Given the description of an element on the screen output the (x, y) to click on. 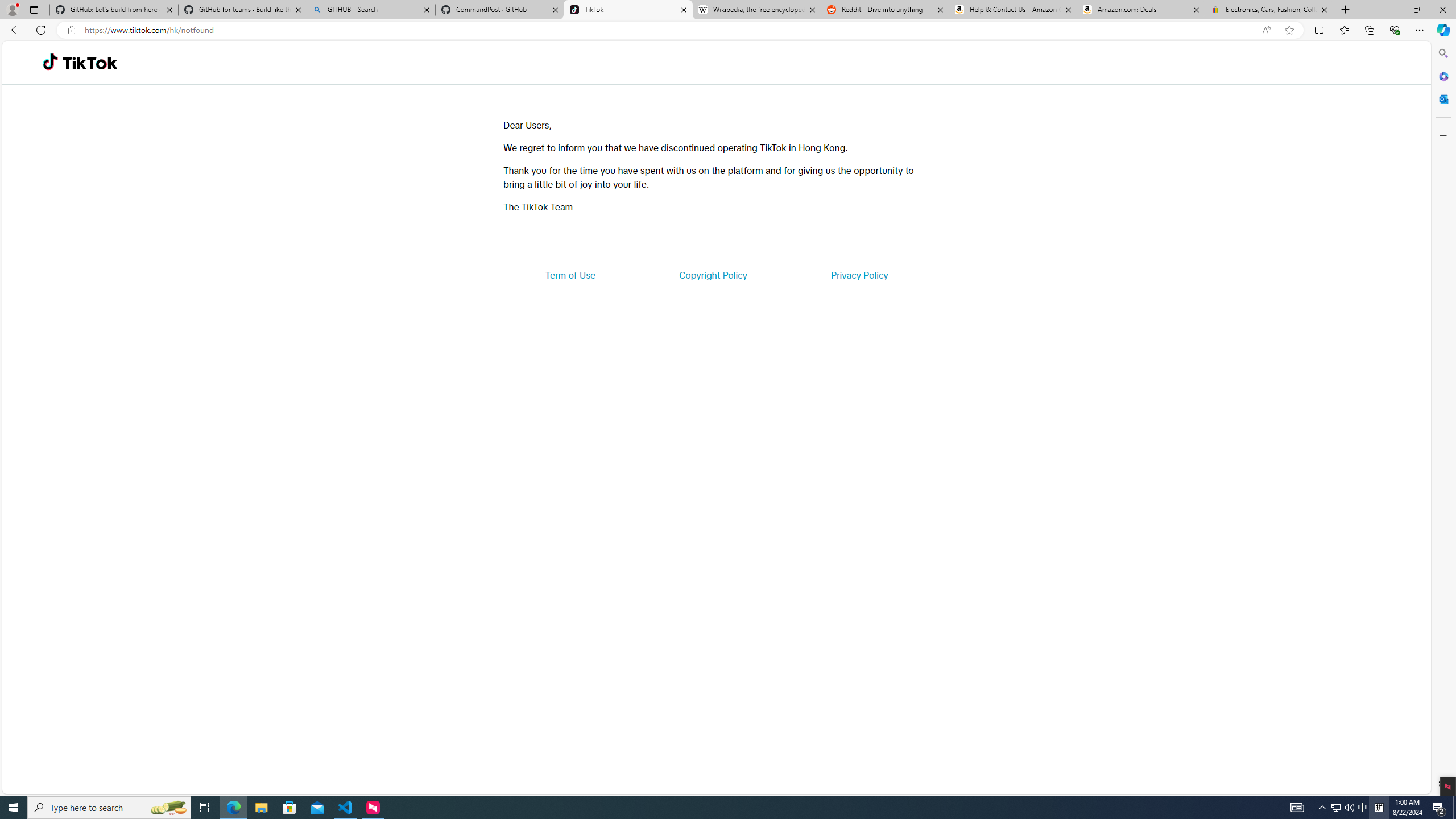
Amazon.com: Deals (1140, 9)
Copyright Policy (712, 274)
Privacy Policy (858, 274)
